Given the description of an element on the screen output the (x, y) to click on. 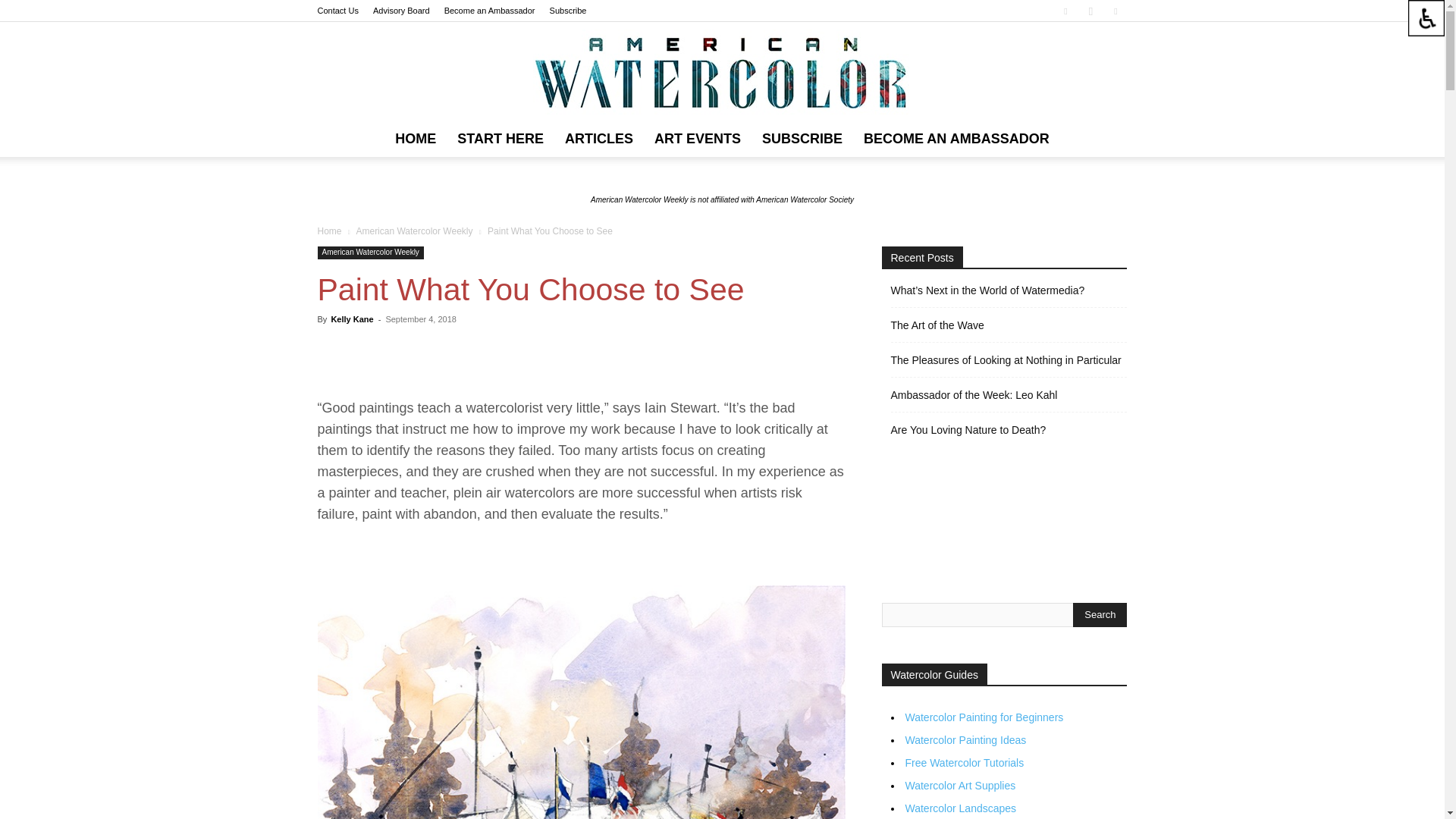
START HERE (500, 138)
Instagram (1090, 10)
View all posts in American Watercolor Weekly (413, 231)
Become an Ambassador (489, 10)
Facebook (1065, 10)
ARTICLES (598, 138)
Subscribe (568, 10)
Advisory Board (400, 10)
Twitter (1114, 10)
Search (1099, 614)
HOME (415, 138)
Contact Us (337, 10)
